Given the description of an element on the screen output the (x, y) to click on. 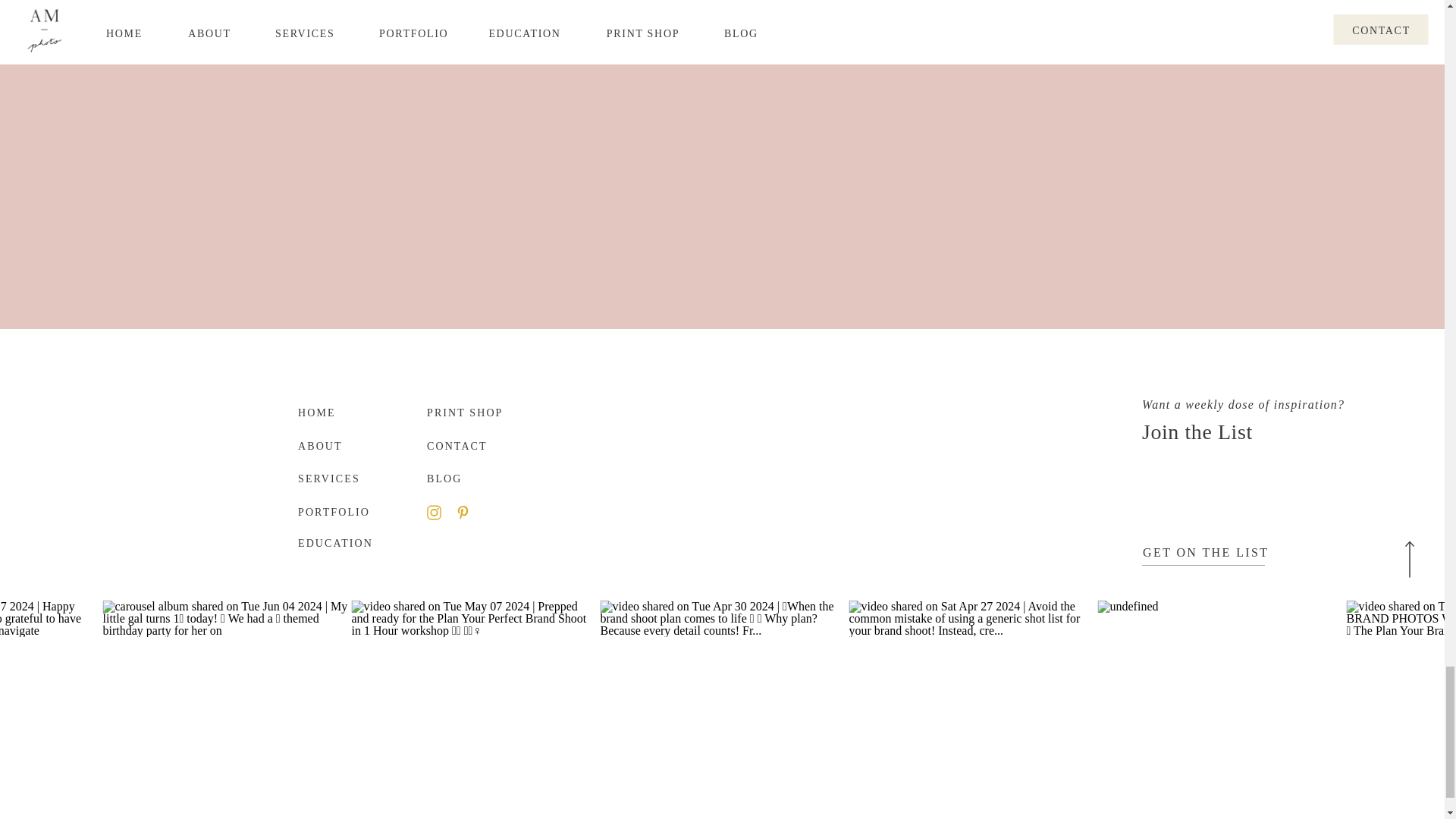
undefined (1127, 606)
